Given the description of an element on the screen output the (x, y) to click on. 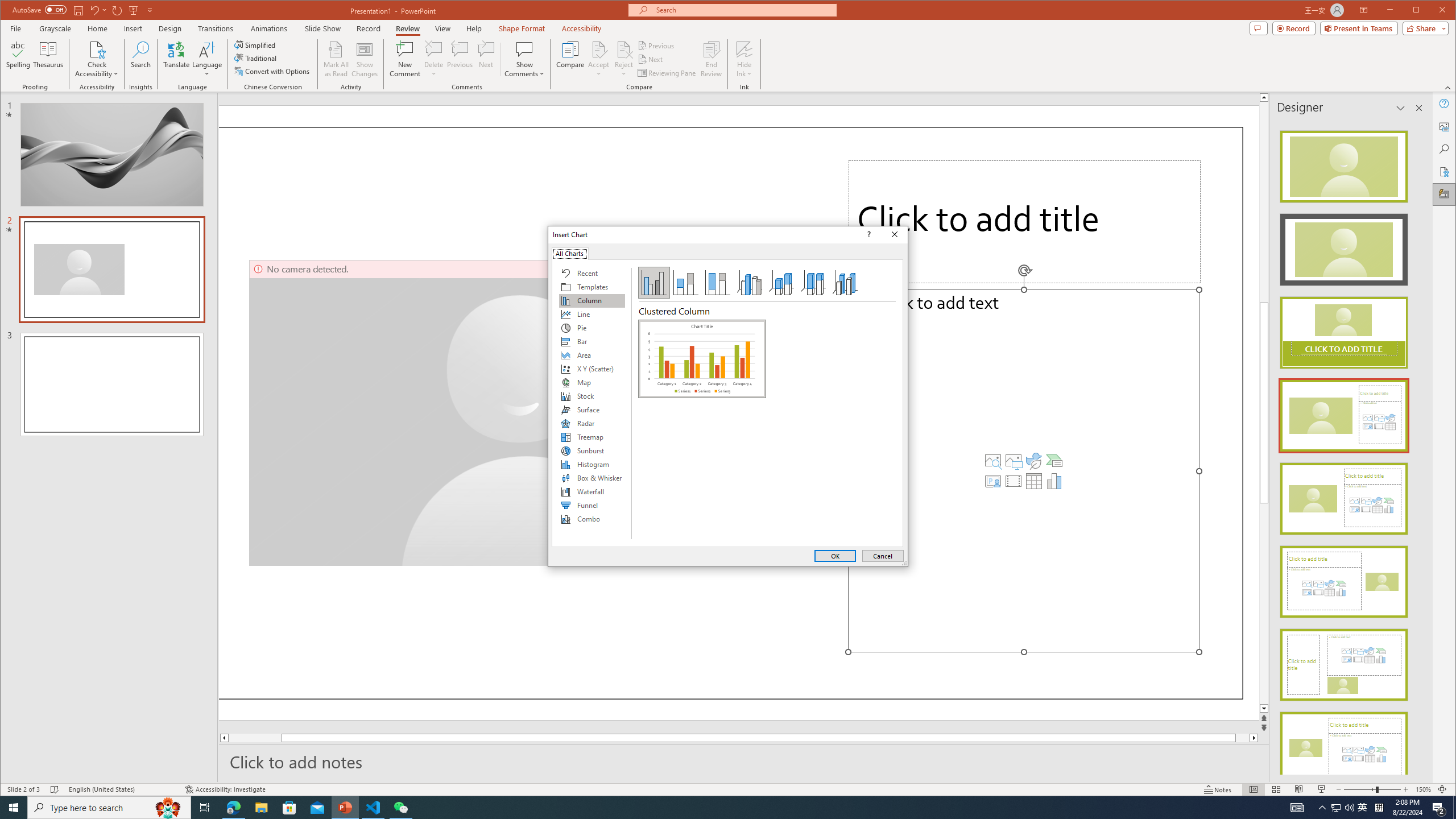
Templates (591, 287)
Convert with Options... (272, 70)
End Review (710, 59)
Sunburst (591, 450)
